Given the description of an element on the screen output the (x, y) to click on. 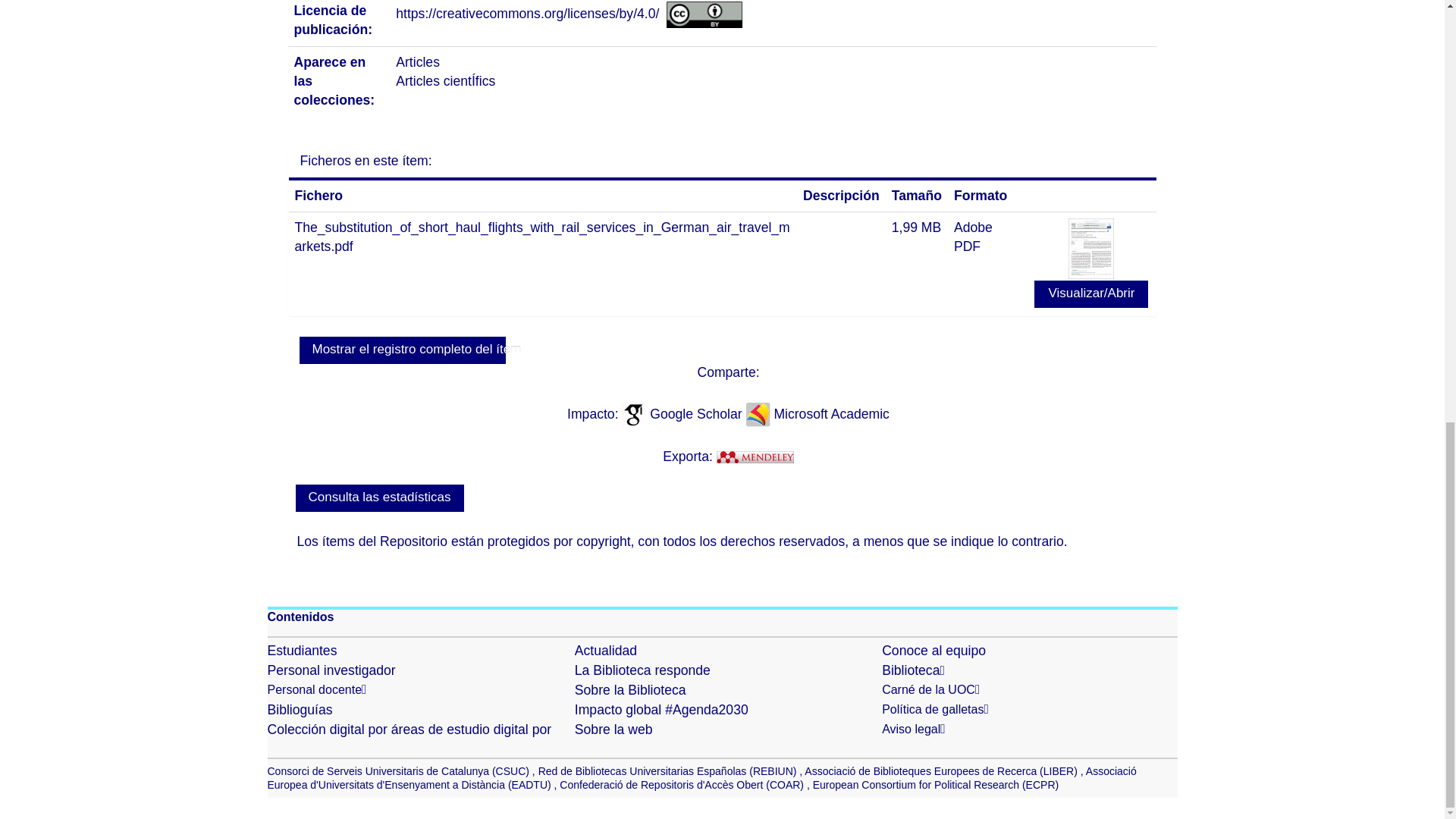
Google Scholar (697, 413)
Google Scholar (697, 413)
Microsoft Academic (831, 413)
Articles (417, 61)
